Given the description of an element on the screen output the (x, y) to click on. 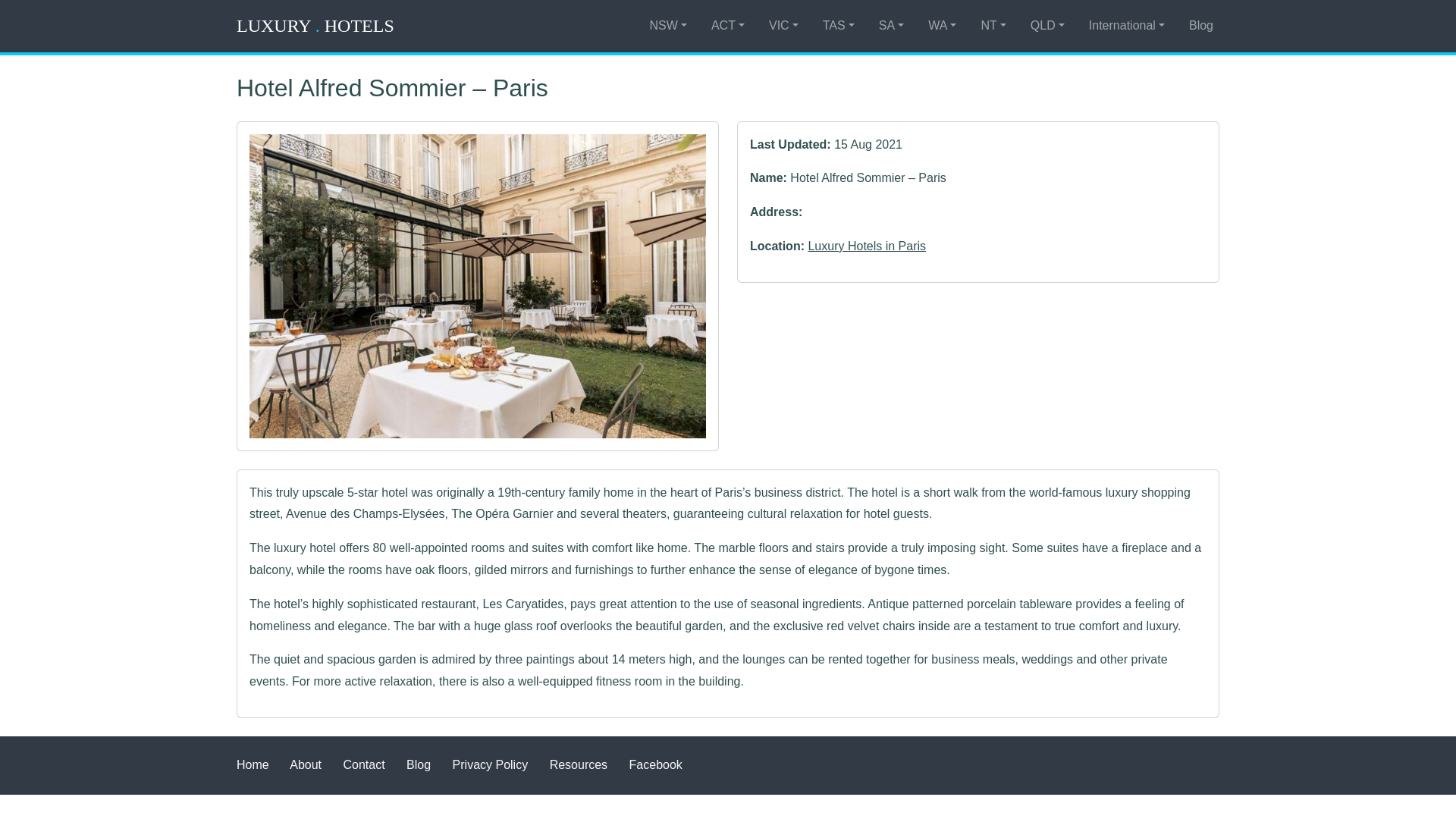
VIC (783, 26)
TAS (838, 26)
SA (891, 26)
WA (941, 26)
QLD (1047, 26)
ACT (727, 26)
LUXURY . HOTELS (314, 25)
NSW (668, 26)
NT (992, 26)
